Given the description of an element on the screen output the (x, y) to click on. 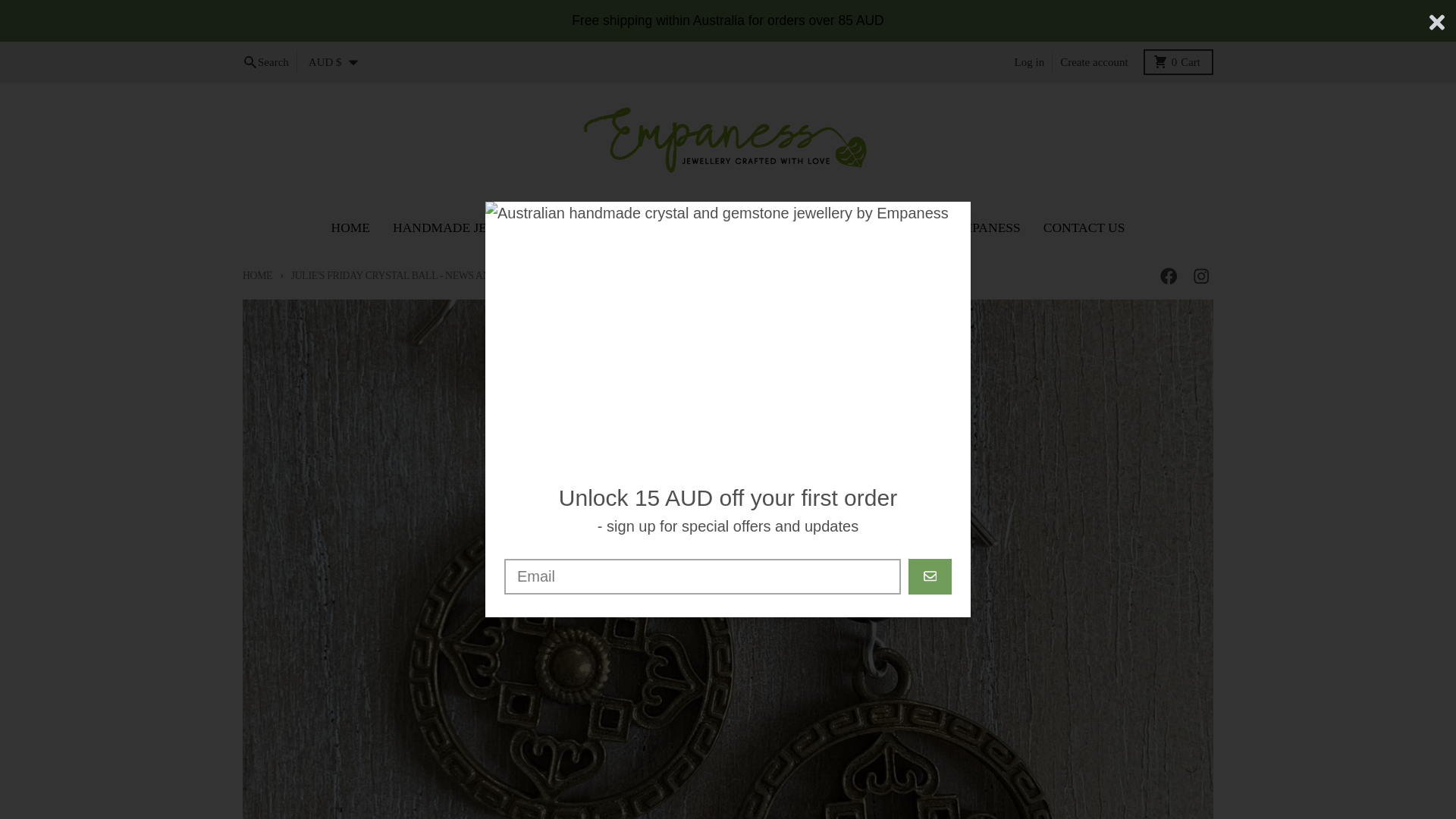
Facebook - Empaness (1168, 276)
HOME (350, 227)
Search (265, 61)
Back to the homepage (257, 275)
ECO FRIENDLY PACKAGING (793, 227)
GO (930, 576)
Create account (1093, 61)
Log in (1029, 61)
Instagram - Empaness (1177, 62)
